Given the description of an element on the screen output the (x, y) to click on. 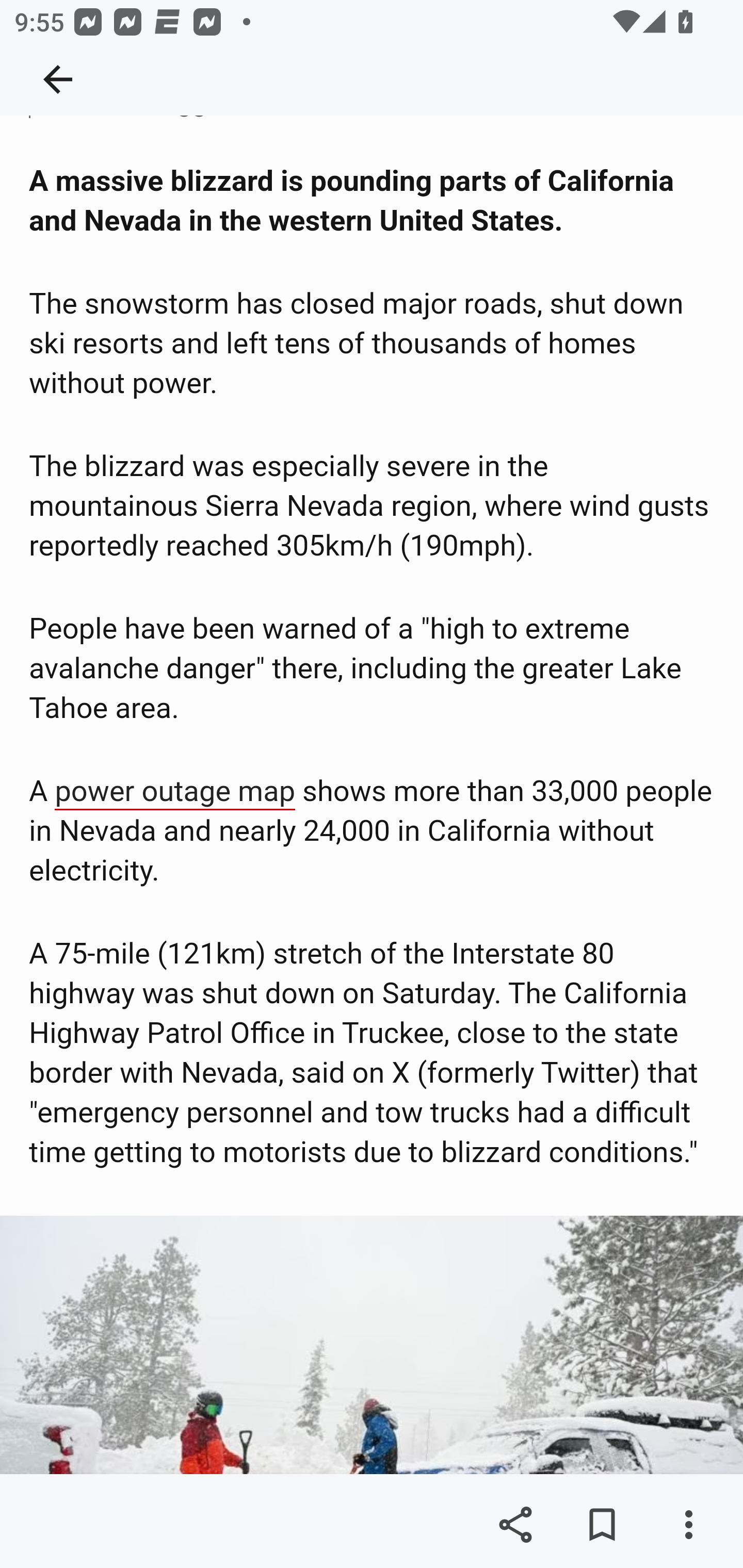
Navigate up (57, 79)
power outage map, external power outage map (175, 793)
Share (514, 1524)
Save for later (601, 1524)
More options (688, 1524)
